Given the description of an element on the screen output the (x, y) to click on. 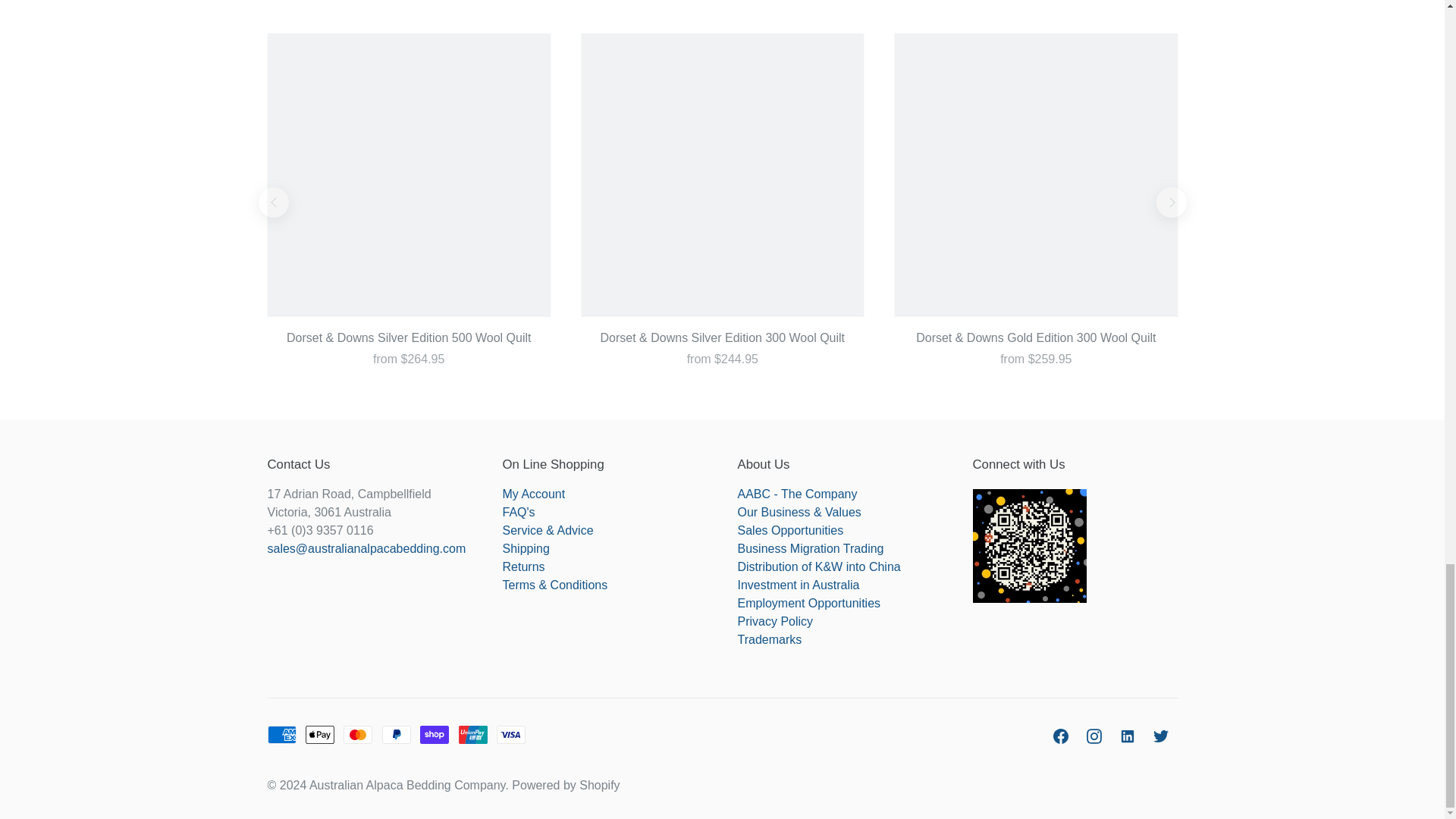
Union Pay (472, 734)
American Express (280, 734)
Shop Pay (434, 734)
PayPal (395, 734)
Mastercard (357, 734)
Visa (510, 734)
Apple Pay (319, 734)
